Given the description of an element on the screen output the (x, y) to click on. 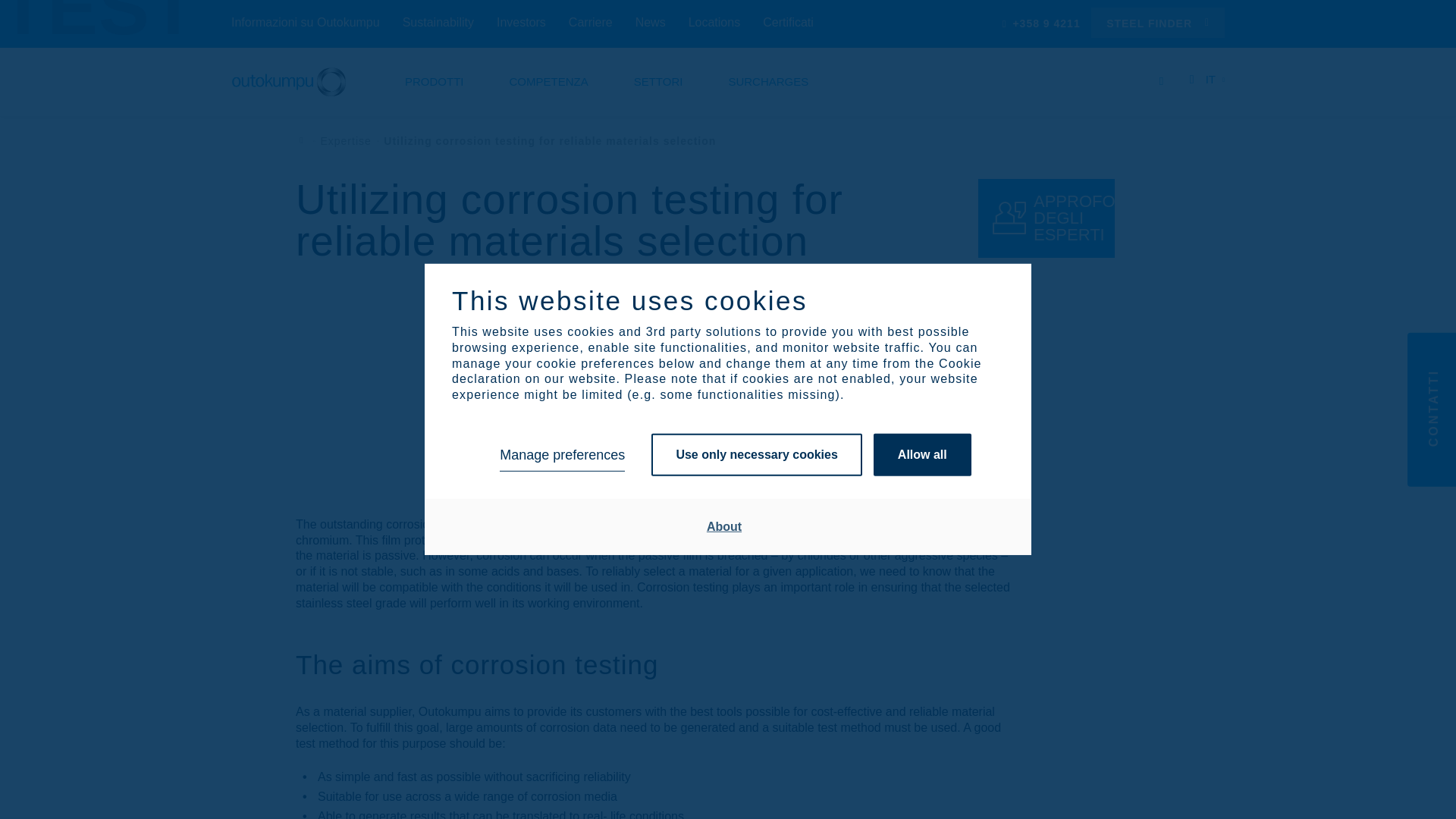
Manage preferences (561, 454)
Allow all (922, 454)
About (724, 526)
Use only necessary cookies (755, 454)
